Given the description of an element on the screen output the (x, y) to click on. 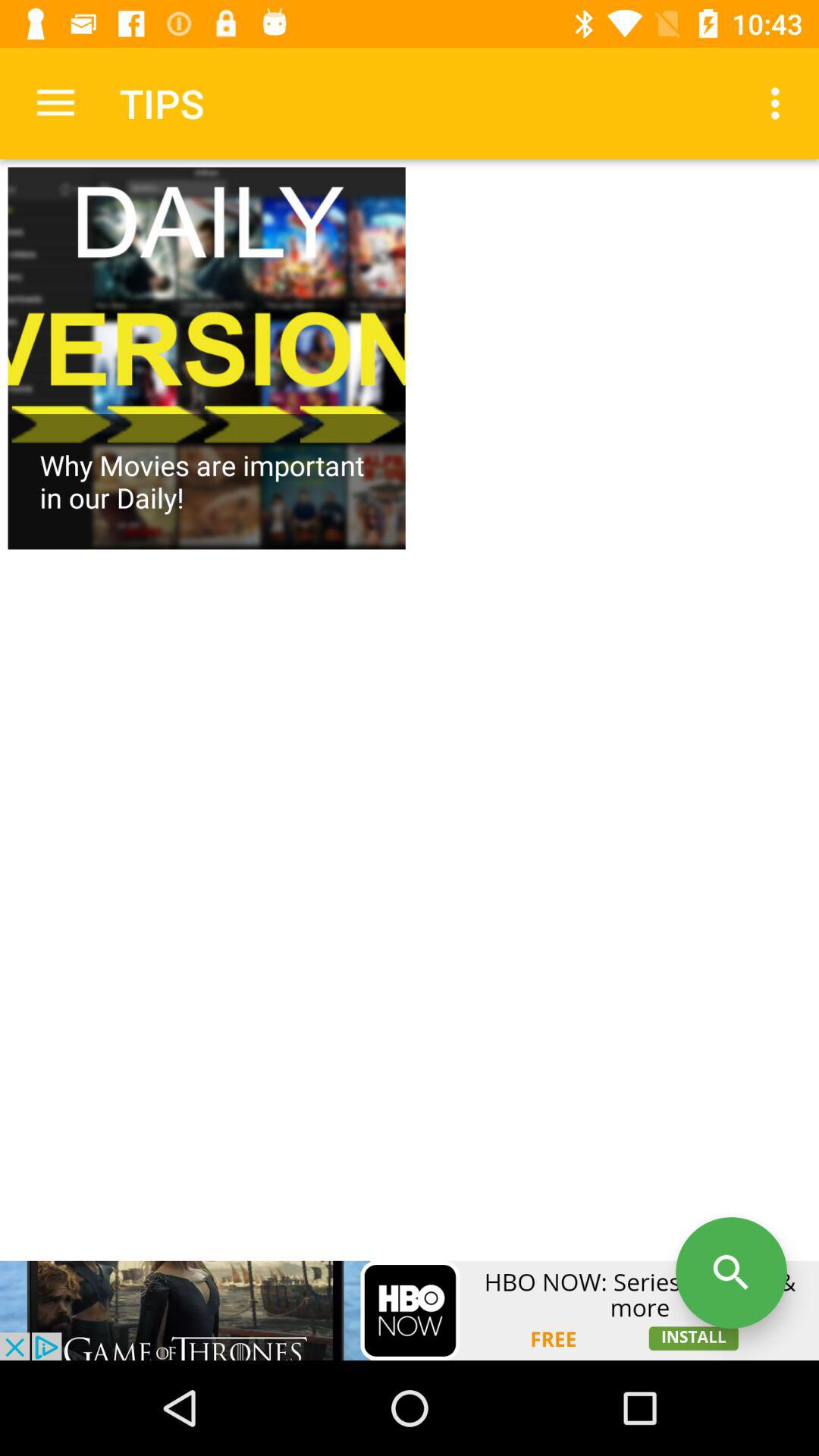
go to advertisement (409, 1310)
